Given the description of an element on the screen output the (x, y) to click on. 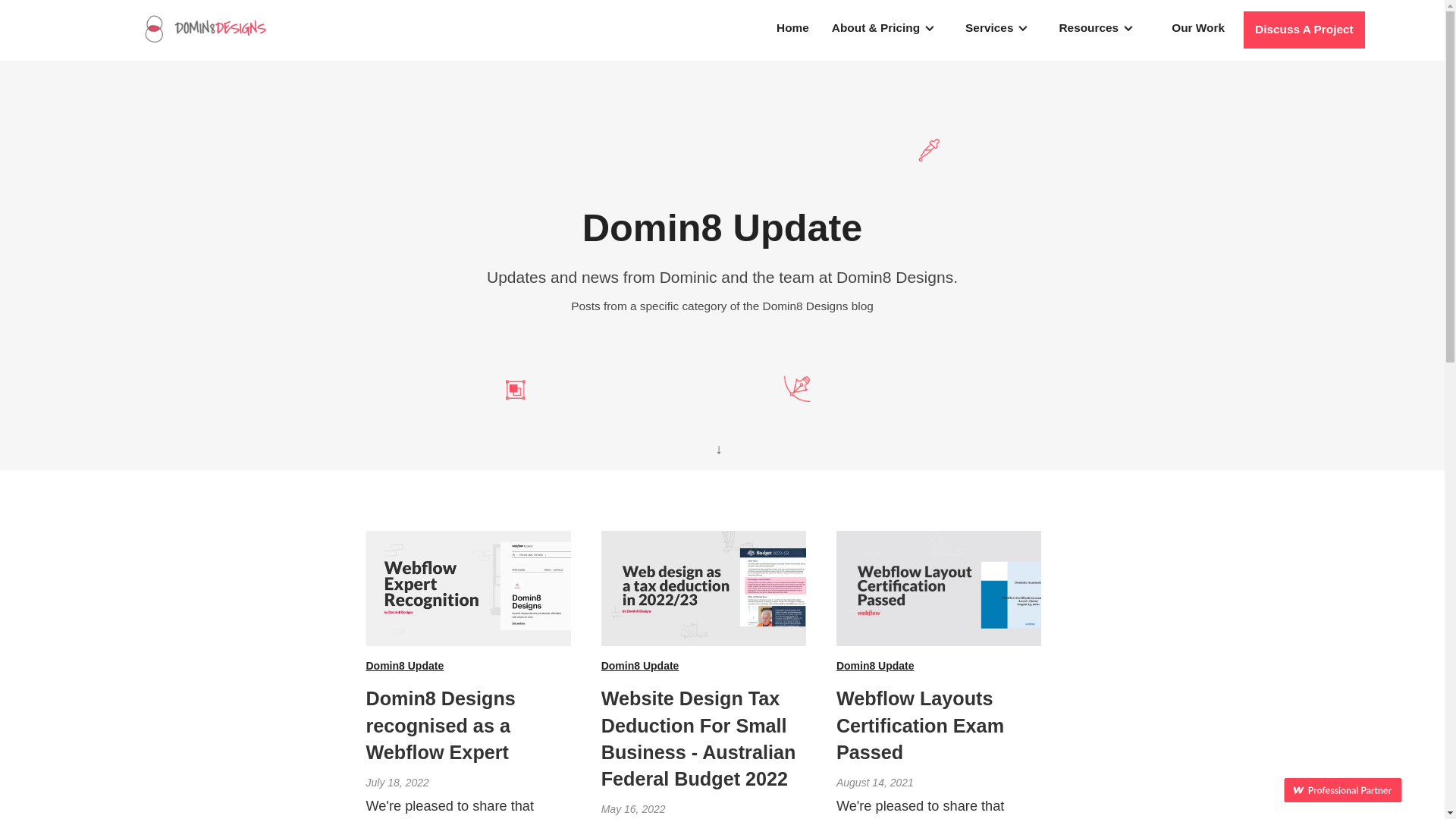
Home Element type: text (792, 28)
Our Work Element type: text (1198, 28)
Domin8 Update Element type: text (467, 667)
Domin8 Update Element type: text (703, 667)
Discuss A Project Element type: text (1304, 29)
Domin8 Update Element type: text (938, 667)
